Given the description of an element on the screen output the (x, y) to click on. 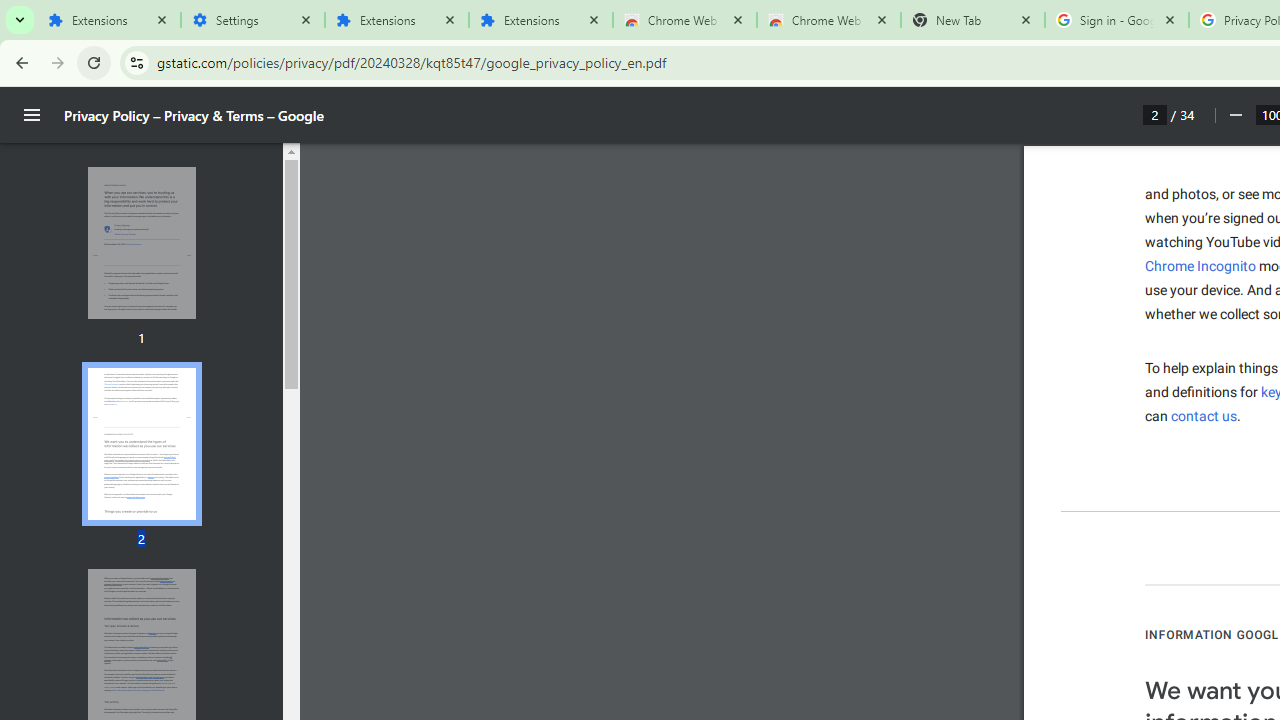
Sign in - Google Accounts (1116, 20)
Thumbnail for page 1 (141, 243)
AutomationID: thumbnail (141, 443)
Thumbnail for page 2 (141, 444)
Settings (252, 20)
Menu (31, 115)
Extensions (108, 20)
Extensions (540, 20)
contact us (1204, 416)
